Given the description of an element on the screen output the (x, y) to click on. 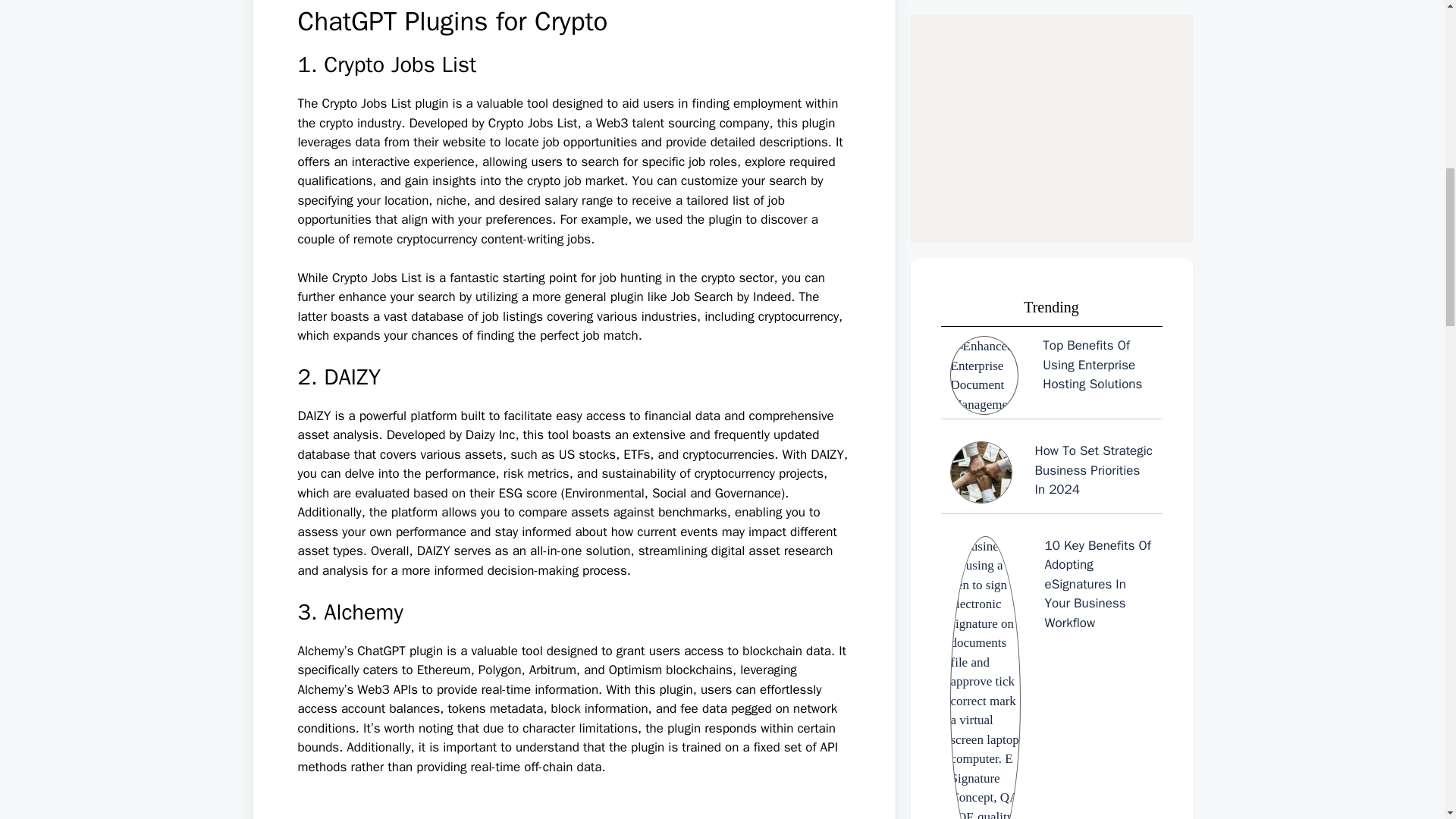
Why Is My Internet So Slow at Night? (1051, 589)
Scroll back to top (1406, 720)
The Role of Experience Platforms in Customer Interactions  (1051, 697)
The Impact Of Proactive IT Support On Business Continuity (1051, 420)
Navigating the Maze: Understanding Search Engine Redirects (1051, 795)
